Given the description of an element on the screen output the (x, y) to click on. 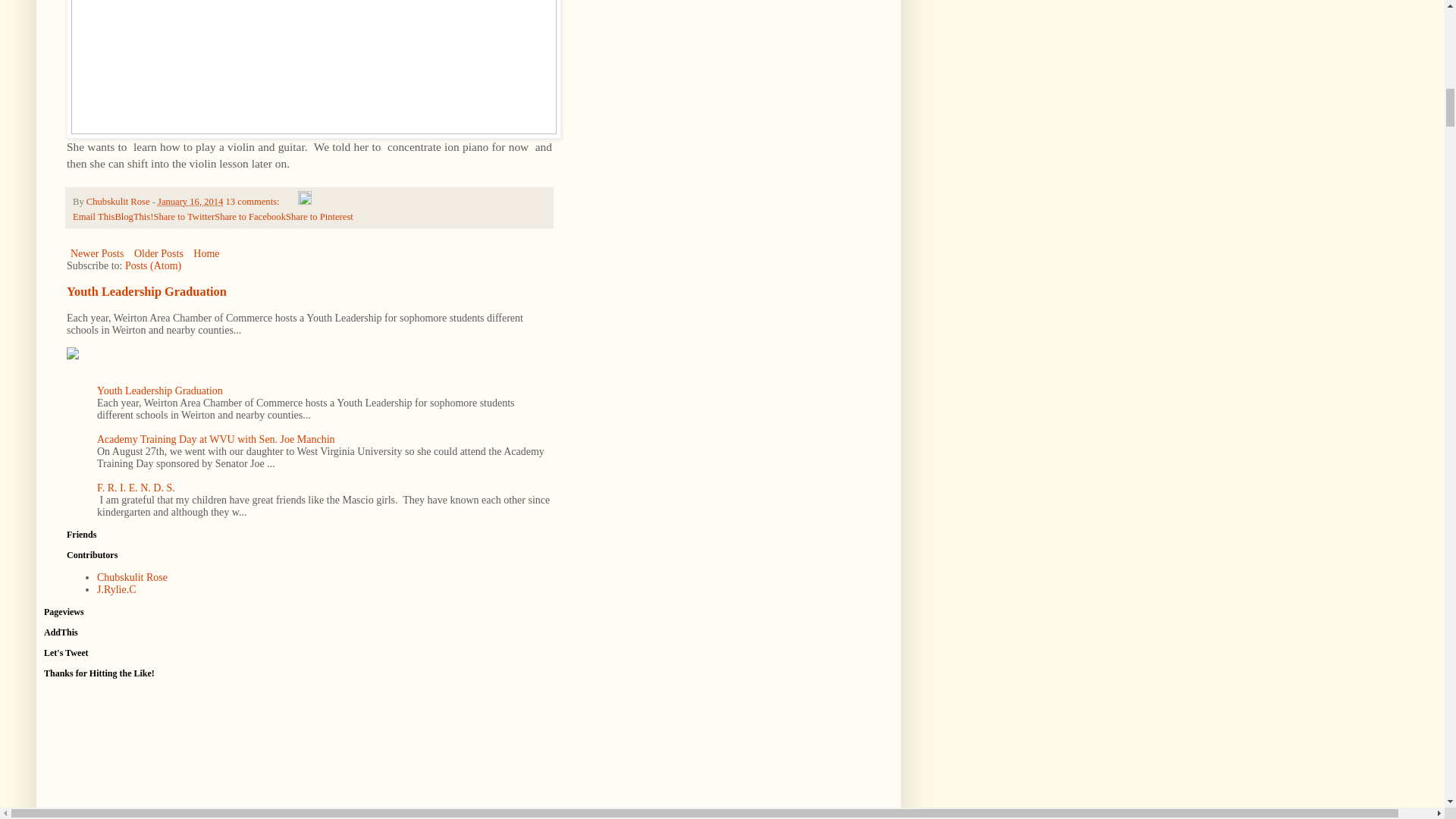
Email This (93, 216)
Share to Facebook (249, 216)
Newer Posts (97, 253)
J.Rylie.C (116, 589)
Older Posts (159, 253)
Share to Pinterest (319, 216)
F. R. I. E. N. D. S. (135, 487)
January 16, 2014 (189, 201)
Email Post (290, 201)
Chubskulit Rose (118, 201)
Share to Twitter (183, 216)
Share to Twitter (183, 216)
Chubskulit Rose (132, 577)
BlogThis! (133, 216)
Academy Training Day at WVU with Sen. Joe Manchin (215, 439)
